Given the description of an element on the screen output the (x, y) to click on. 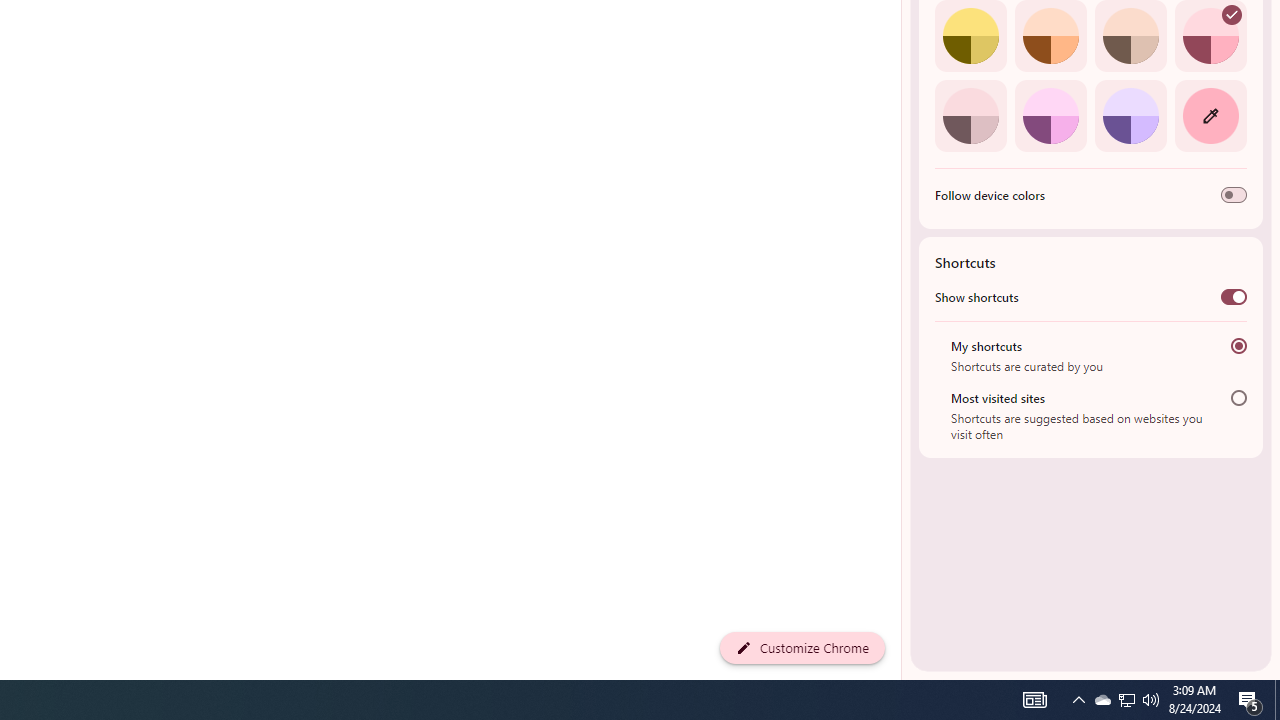
Custom color (1210, 115)
Apricot (1130, 36)
My shortcuts (1238, 345)
Violet (1130, 115)
Citron (970, 36)
AutomationID: svg (1231, 15)
Show shortcuts (1233, 296)
Orange (1050, 36)
Customize Chrome (801, 647)
Most visited sites (1238, 398)
Rose (1210, 36)
Fuchsia (1050, 115)
Side Panel Resize Handle (905, 39)
Pink (970, 115)
